Given the description of an element on the screen output the (x, y) to click on. 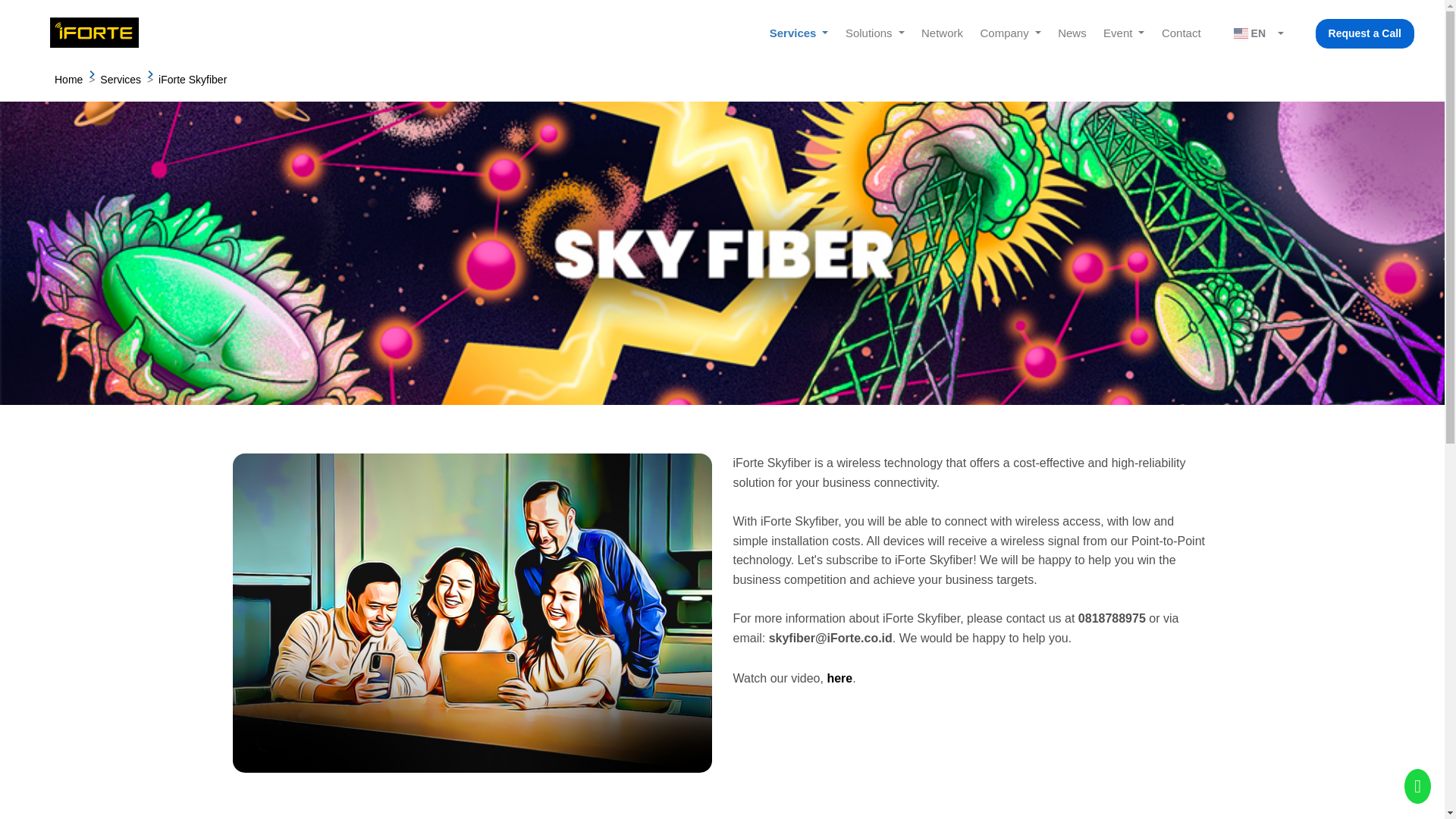
Services (799, 32)
EN (1257, 33)
